Given the description of an element on the screen output the (x, y) to click on. 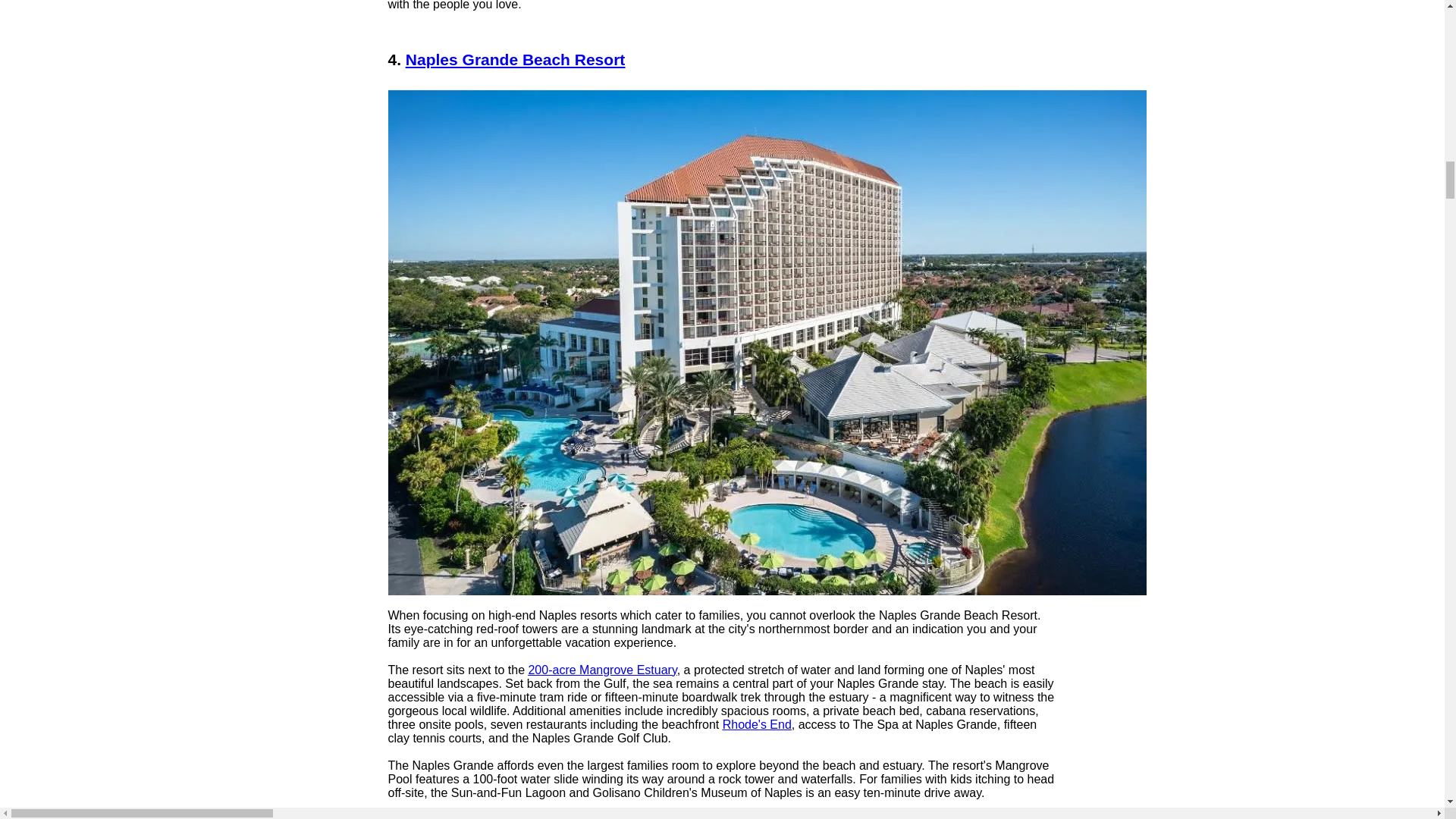
Naples Grande Beach Resort (515, 58)
